Given the description of an element on the screen output the (x, y) to click on. 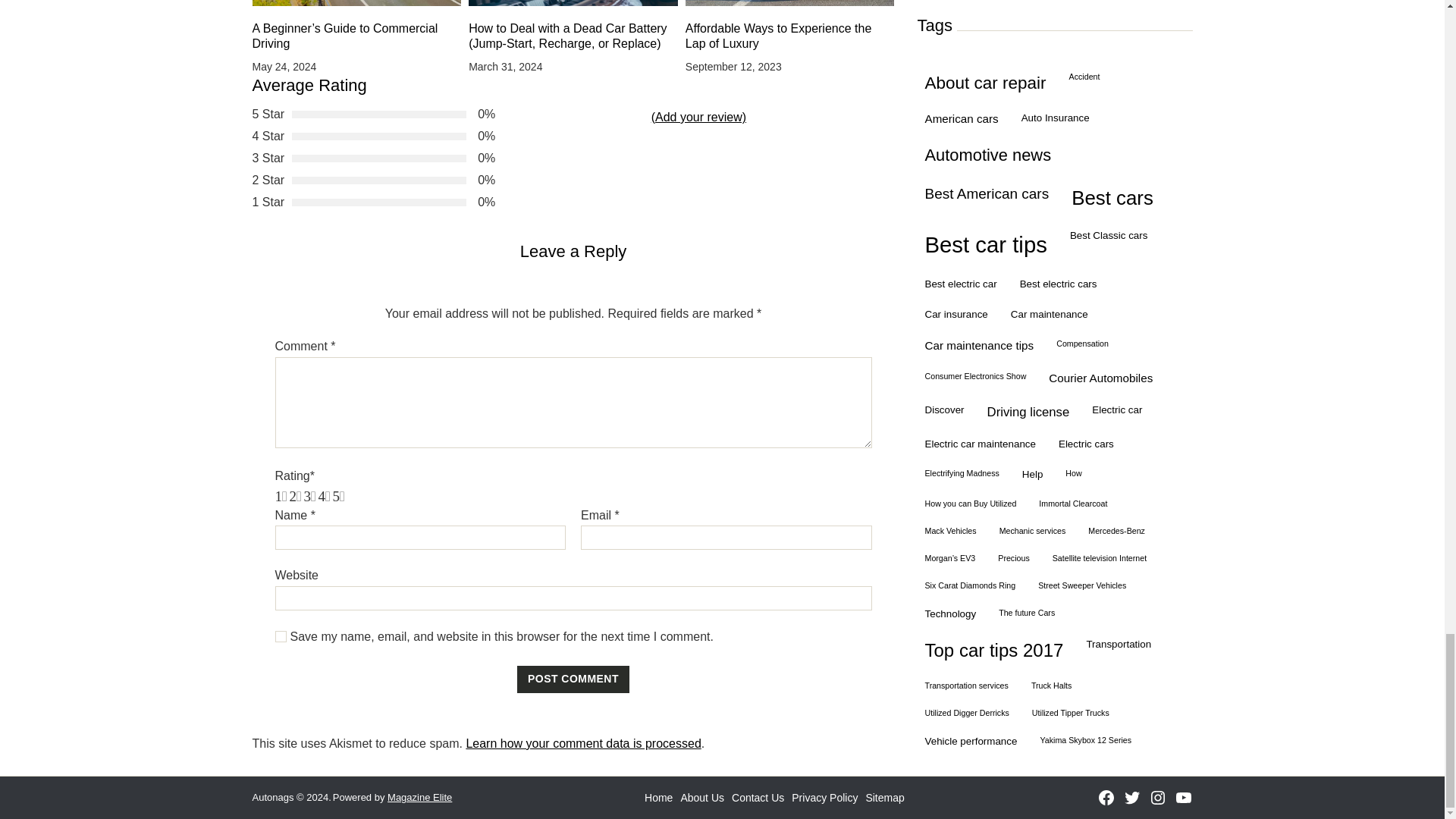
Post Comment (572, 666)
yes (280, 624)
